Given the description of an element on the screen output the (x, y) to click on. 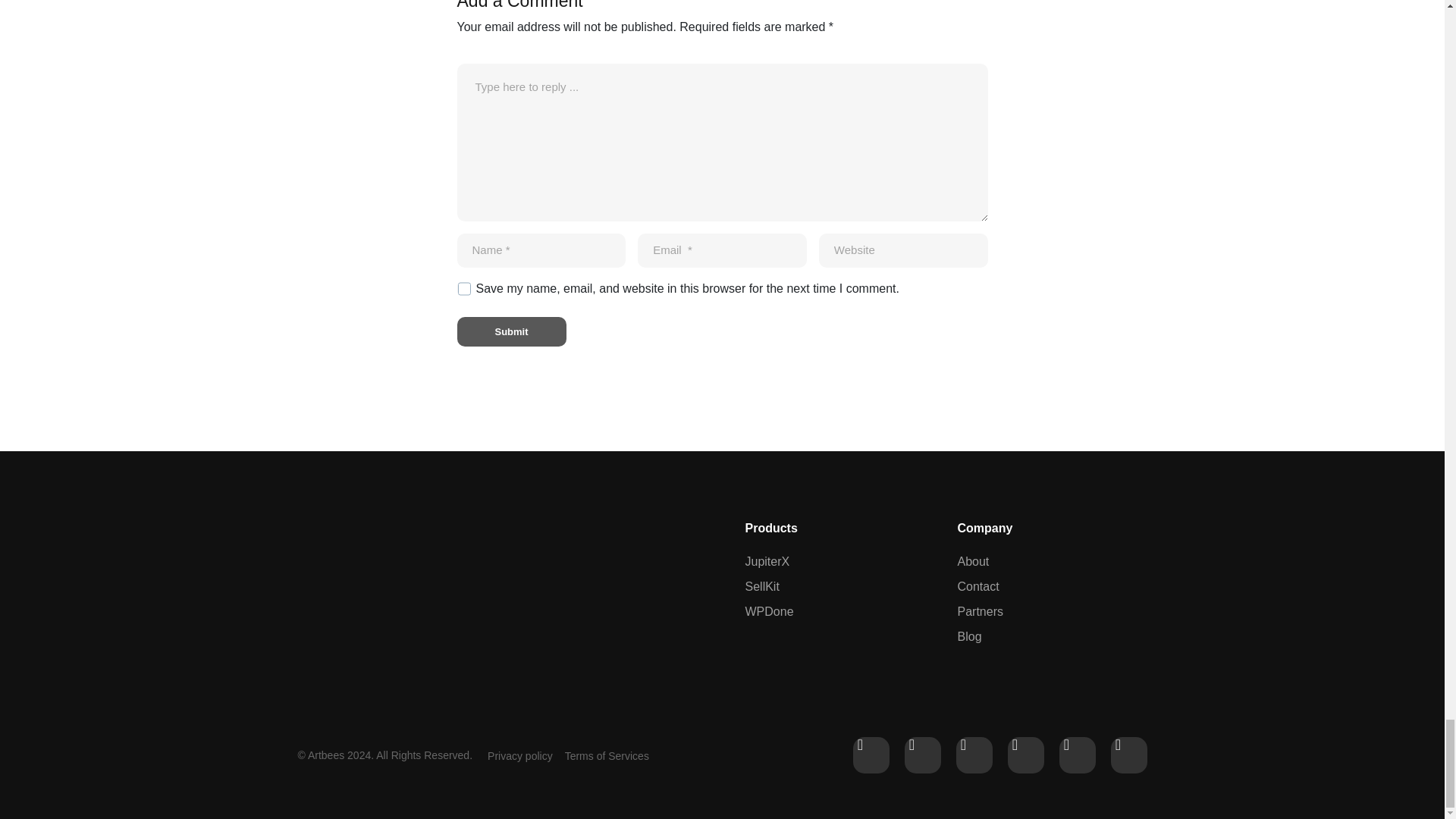
About (979, 561)
Terms of Services (606, 756)
Partners (979, 611)
SellKit (835, 587)
Submit (511, 331)
yes (462, 287)
WPDone (835, 611)
Privacy policy (520, 756)
JupiterX (835, 561)
Blog (979, 637)
